Given the description of an element on the screen output the (x, y) to click on. 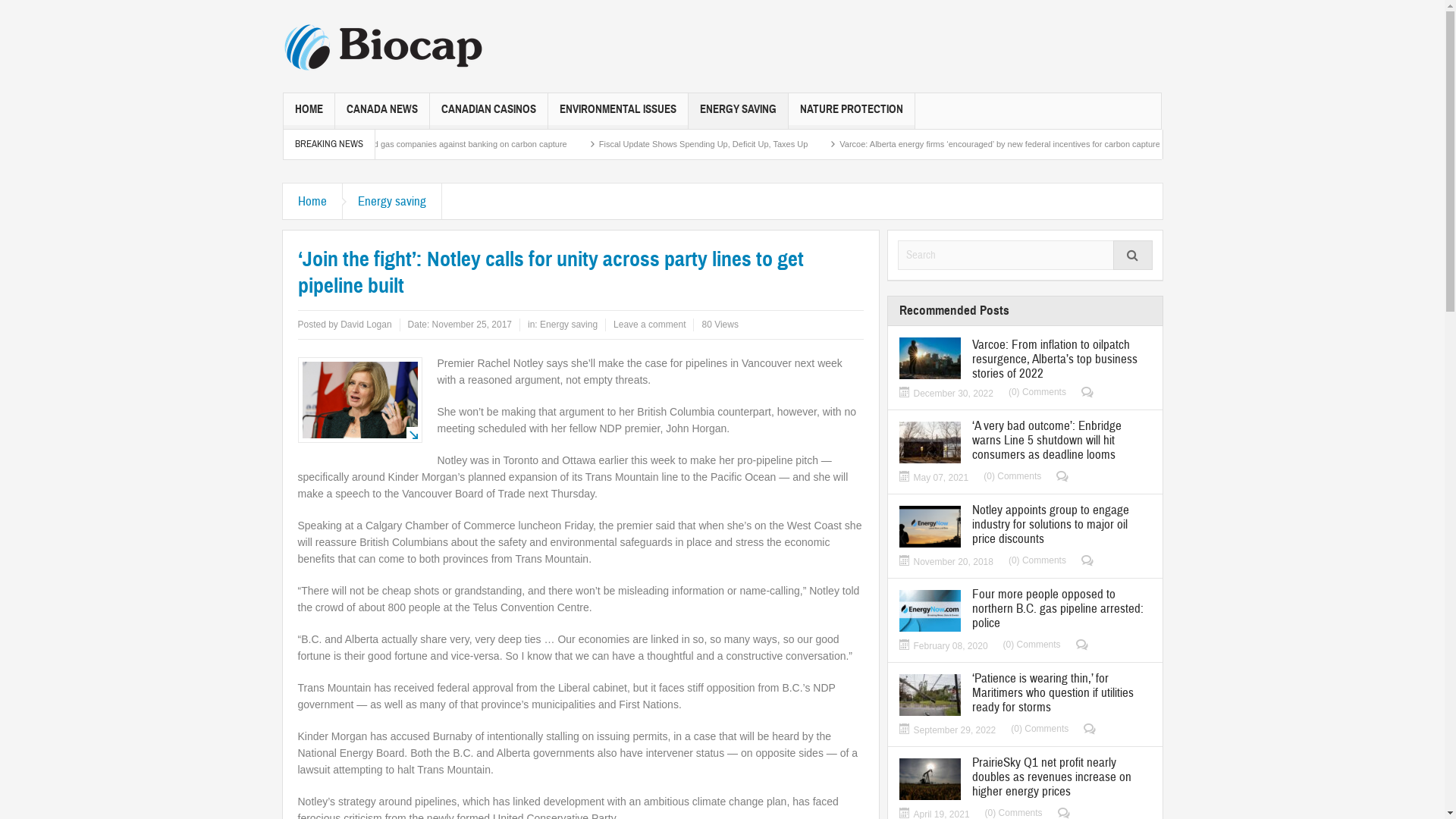
Search Element type: text (1132, 254)
CANADIAN CASINOS Element type: text (488, 110)
Search for: Element type: hover (1024, 254)
Leave a comment Element type: text (649, 324)
Home Element type: text (312, 201)
CANADA NEWS Element type: text (382, 110)
Fiscal Update Shows Spending Up, Deficit Up, Taxes Up Element type: text (805, 143)
David Logan Element type: text (365, 324)
ENVIRONMENTAL ISSUES Element type: text (617, 110)
Energy saving Element type: text (392, 201)
ENERGY SAVING Element type: text (737, 110)
HOME Element type: text (308, 110)
NATURE PROTECTION Element type: text (851, 110)
Energy saving Element type: text (568, 324)
